Given the description of an element on the screen output the (x, y) to click on. 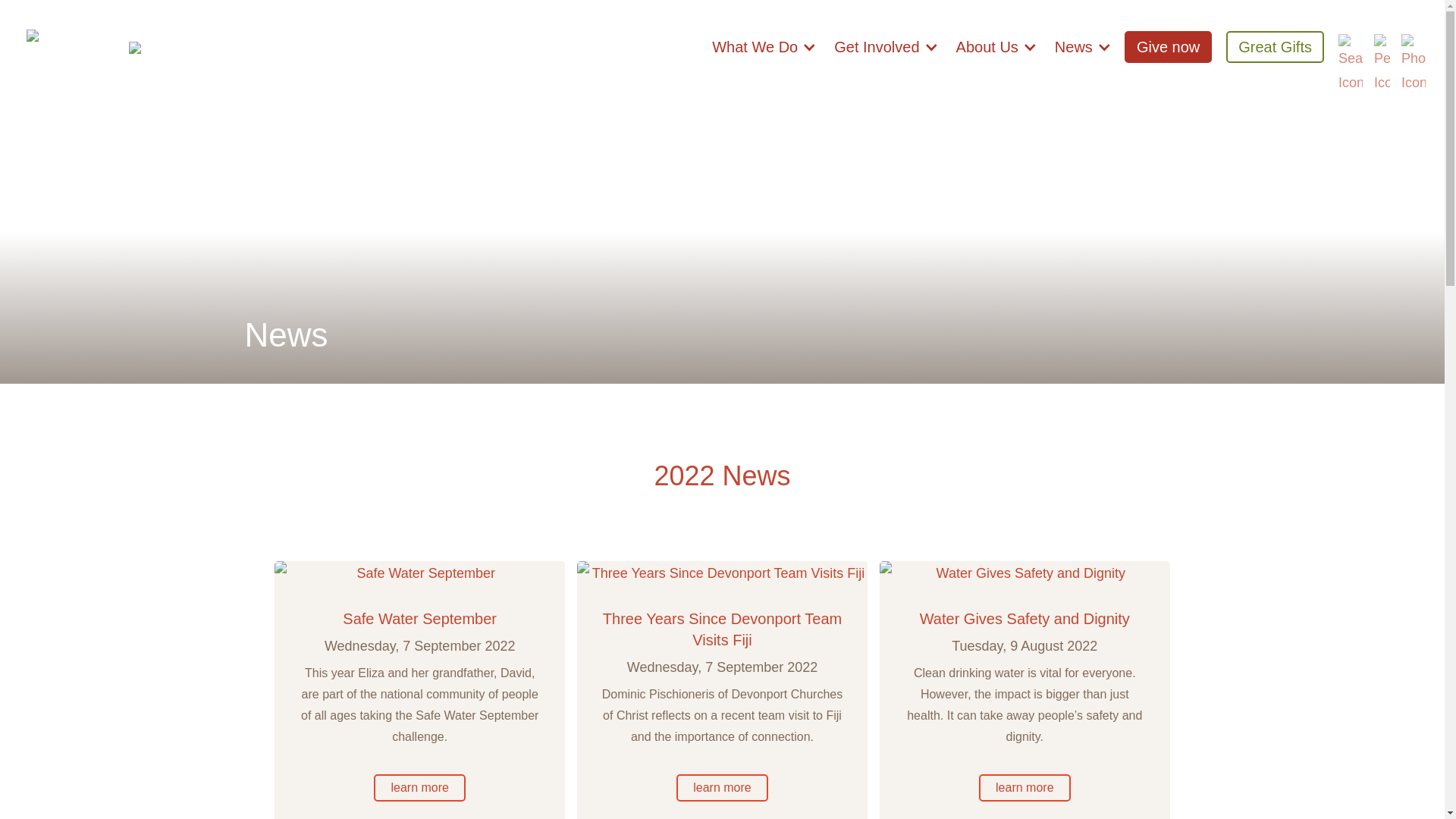
What We Do (764, 55)
Search GMP (1350, 44)
News (1082, 55)
About Us (997, 55)
Contact Us (1412, 44)
Get Involved (885, 55)
